Given the description of an element on the screen output the (x, y) to click on. 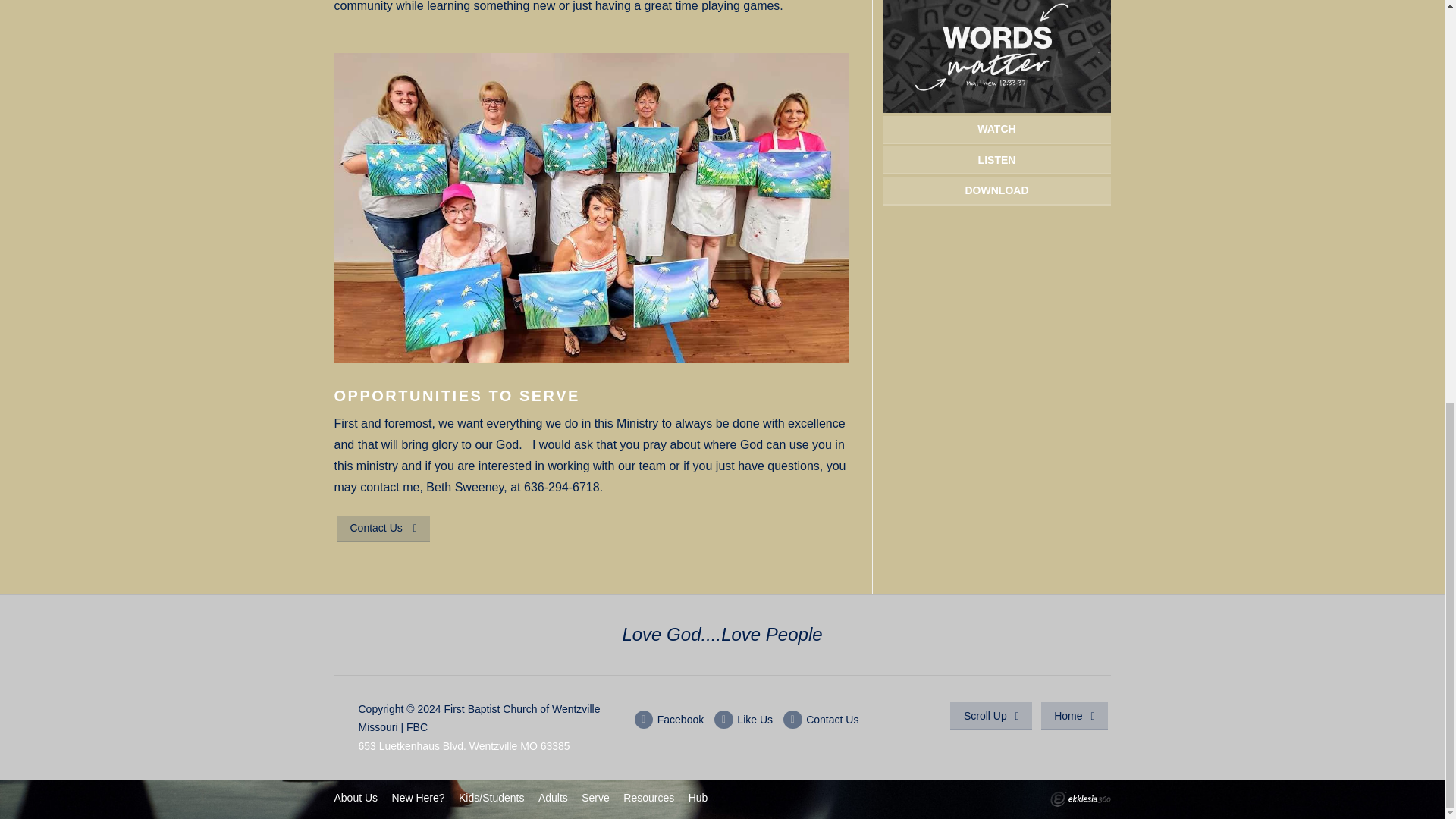
Facebook (669, 719)
Contact Us (821, 719)
Like Us (743, 719)
